Given the description of an element on the screen output the (x, y) to click on. 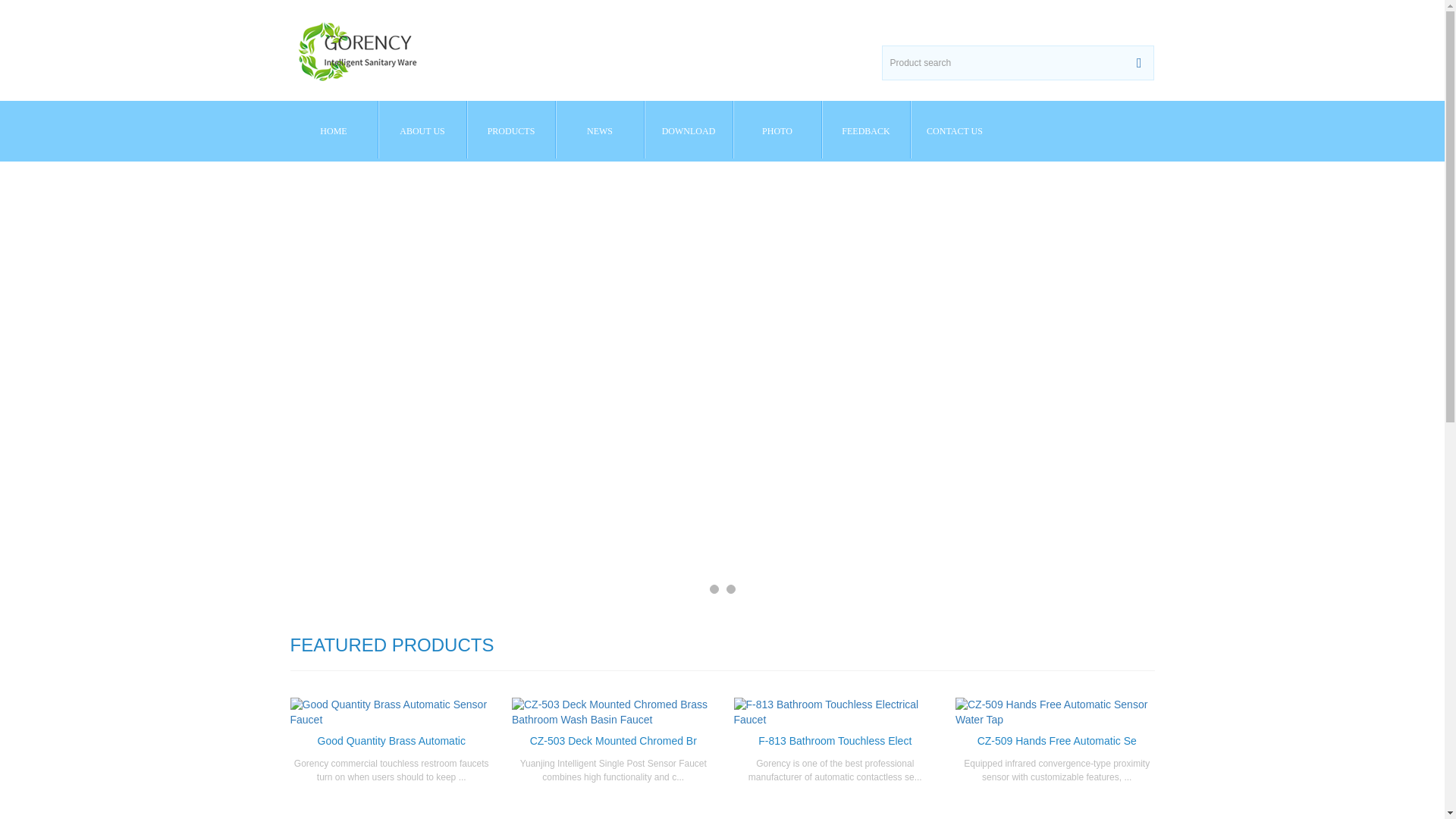
1 (714, 588)
F-813 Bathroom Touchless Electrical Faucet (834, 740)
2 (730, 588)
PRODUCTS (510, 129)
CZ-503 Deck Mounted Chromed Brass Bathroom Wash Basin Faucet (613, 740)
Good Quantity Brass Automatic (391, 740)
Good Quantity Brass Automatic Sensor Faucet (391, 740)
NEWS (599, 129)
PHOTO (777, 129)
FEEDBACK (865, 129)
